Given the description of an element on the screen output the (x, y) to click on. 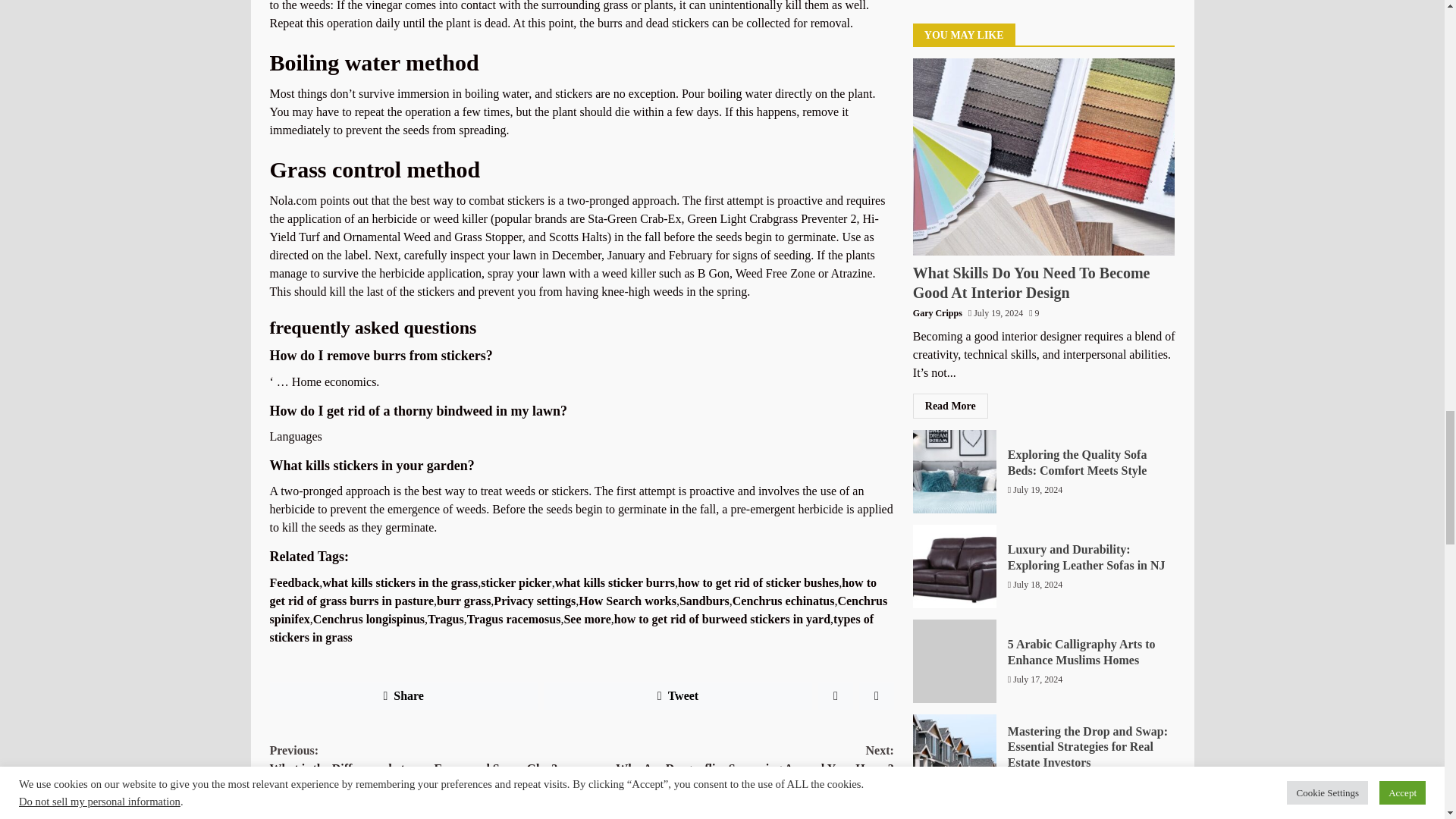
Tweet (677, 696)
Share (403, 696)
